Given the description of an element on the screen output the (x, y) to click on. 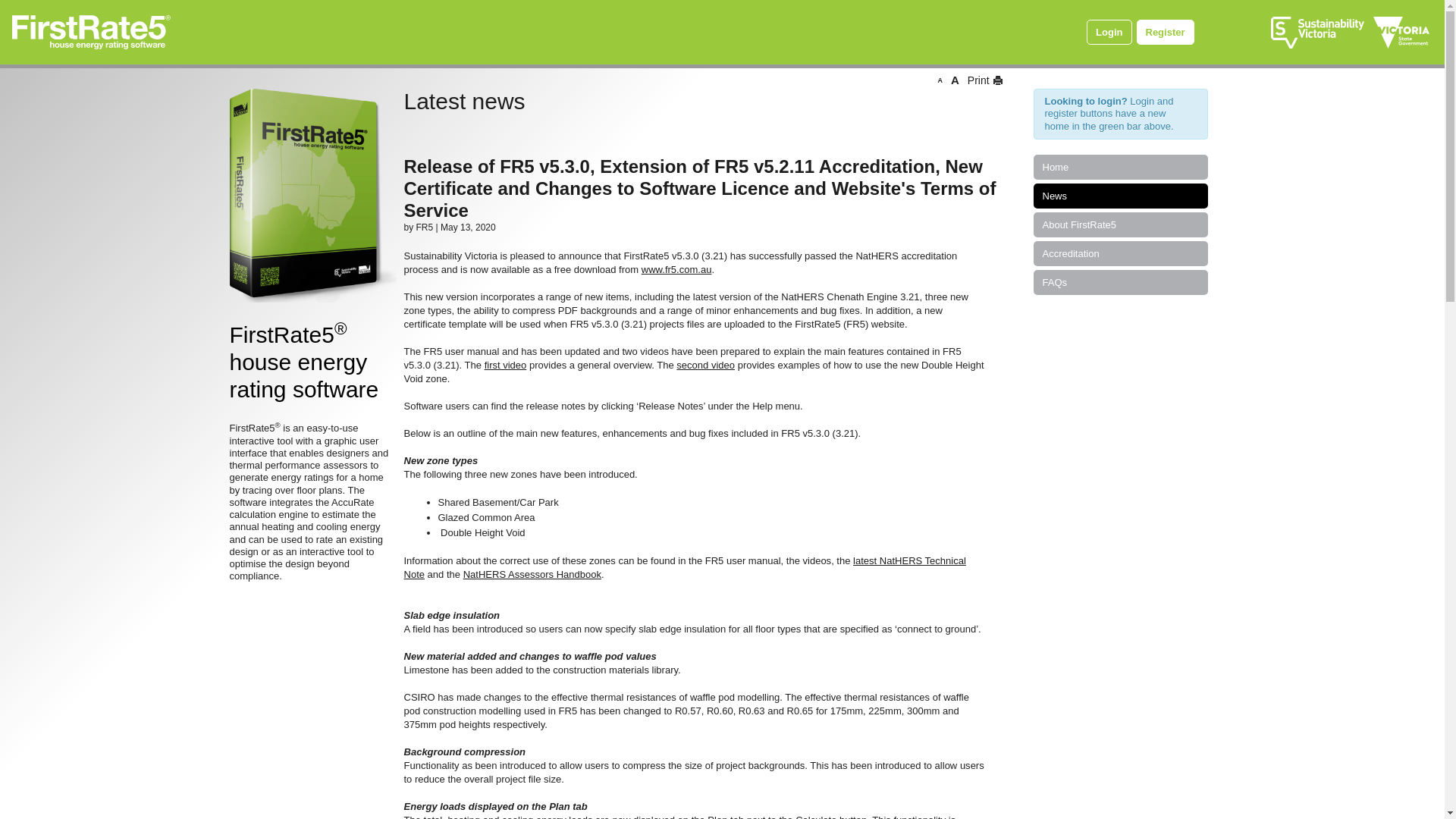
Login Element type: text (1108, 31)
Print Element type: text (983, 80)
Register Element type: text (1164, 31)
first video Element type: text (505, 364)
About FirstRate5 Element type: text (1119, 224)
FAQs Element type: text (1119, 281)
NatHERS Assessors Handbook Element type: text (532, 574)
second video Element type: text (705, 364)
latest NatHERS Technical Note Element type: text (684, 567)
Accreditation Element type: text (1119, 253)
A Element type: text (939, 80)
Home Element type: text (1119, 166)
A Element type: text (954, 79)
www.fr5.com.au Element type: text (676, 269)
News Element type: text (1119, 195)
A Element type: text (939, 80)
A Element type: text (954, 80)
